Given the description of an element on the screen output the (x, y) to click on. 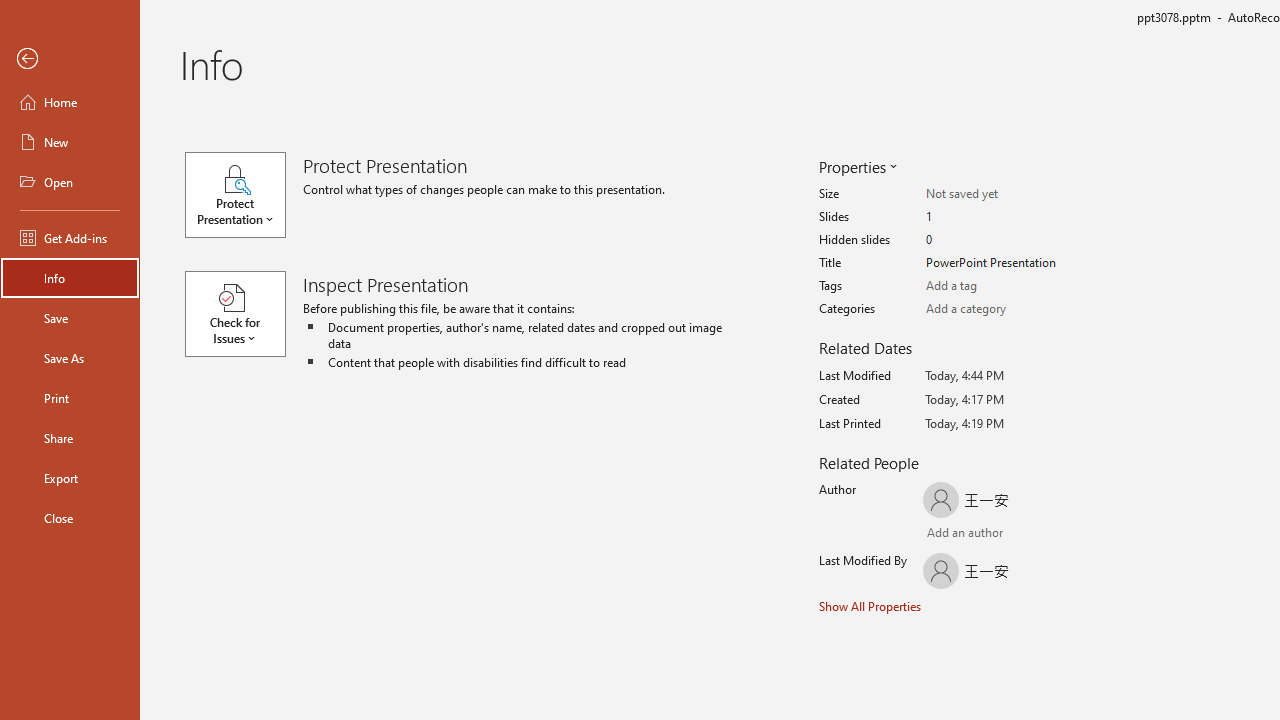
Info (69, 277)
Properties (856, 166)
Protect Presentation (244, 194)
Size (1003, 194)
Browse Address Book (1047, 534)
Tags (1003, 286)
Get Add-ins (69, 237)
Categories (1003, 309)
Export (69, 477)
Show All Properties (870, 606)
